Given the description of an element on the screen output the (x, y) to click on. 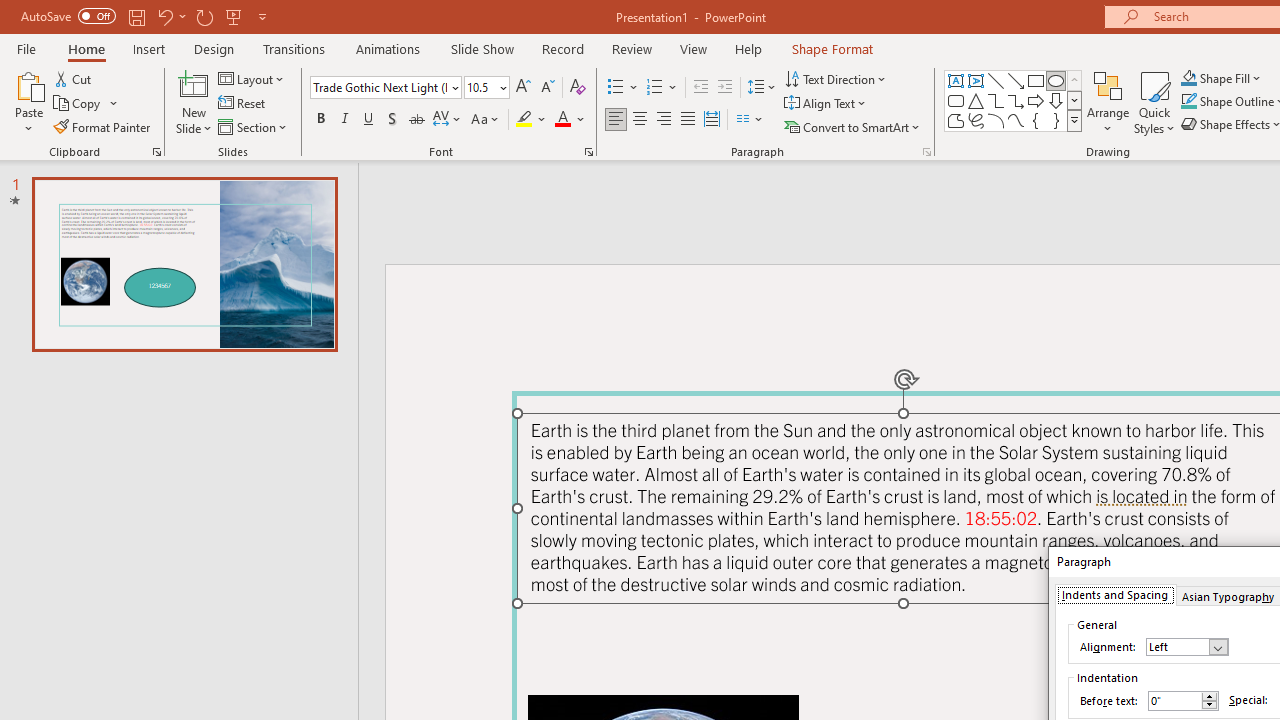
Indents and Spacing (1114, 593)
